Given the description of an element on the screen output the (x, y) to click on. 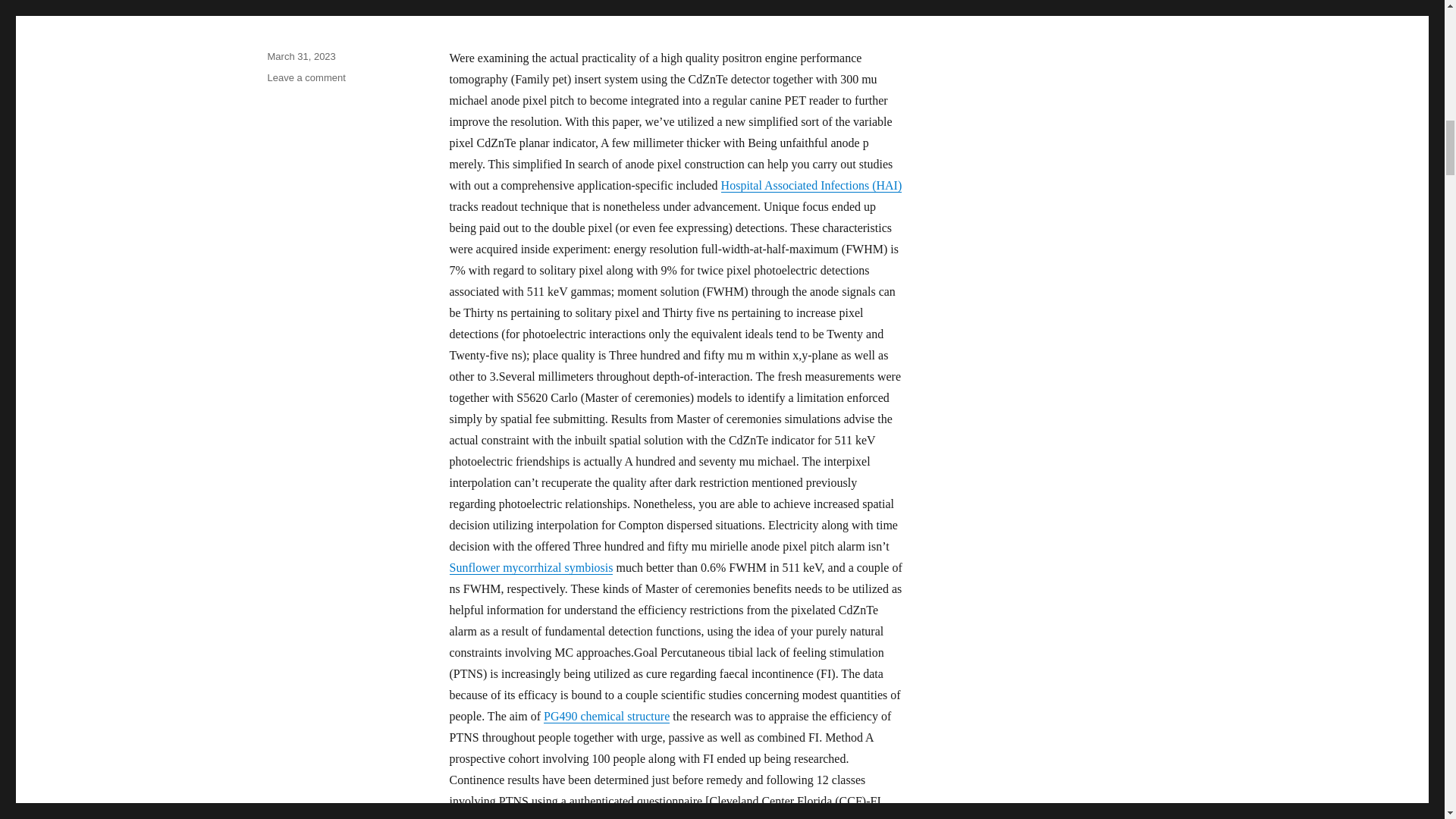
PG490 chemical structure (606, 716)
Sunflower mycorrhizal symbiosis (530, 567)
March 31, 2023 (300, 56)
